Given the description of an element on the screen output the (x, y) to click on. 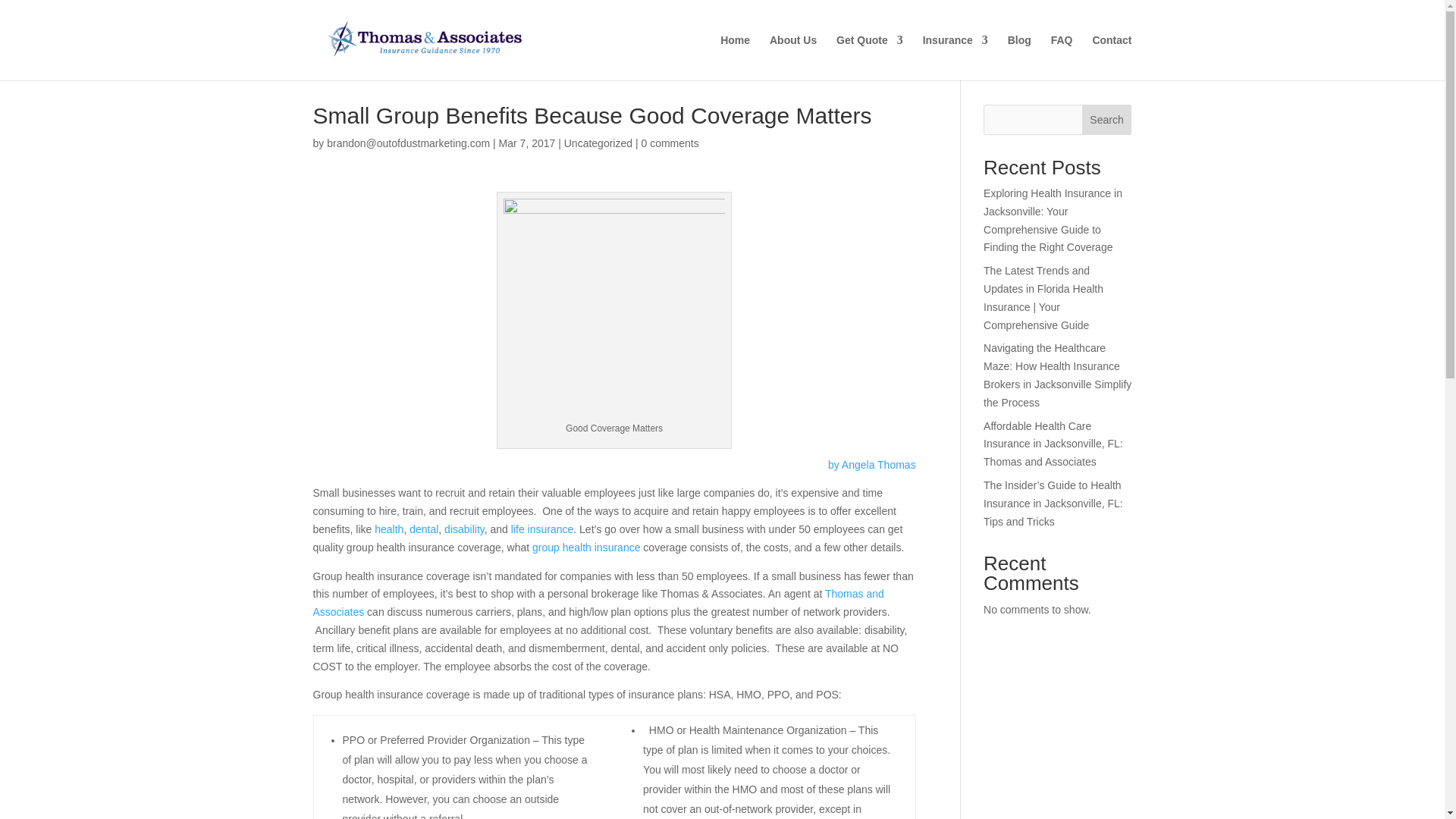
Insurance (955, 57)
Search (1106, 119)
by Angela Thomas (871, 464)
group health insurance (586, 547)
life insurance (542, 529)
Uncategorized (597, 143)
Get Quote (868, 57)
Thomas and Associates (598, 603)
About Us (793, 57)
health (387, 529)
disability (464, 529)
0 comments (669, 143)
